Given the description of an element on the screen output the (x, y) to click on. 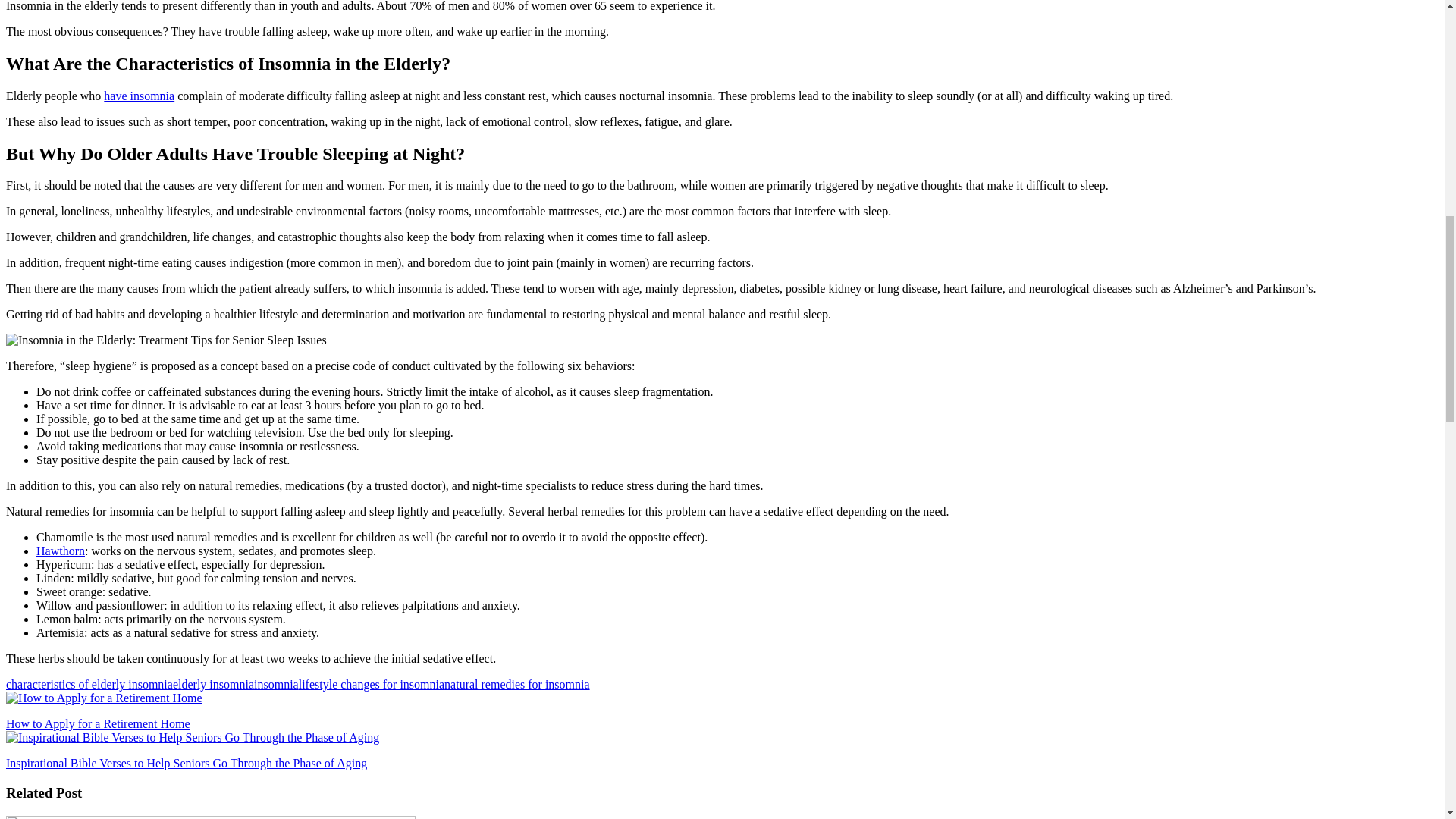
lifestyle changes for insomnia (371, 684)
Hawthorn (60, 550)
have insomnia (138, 95)
insomnia (275, 684)
elderly insomnia (213, 684)
characteristics of elderly insomnia (89, 684)
natural remedies for insomnia (516, 684)
